Given the description of an element on the screen output the (x, y) to click on. 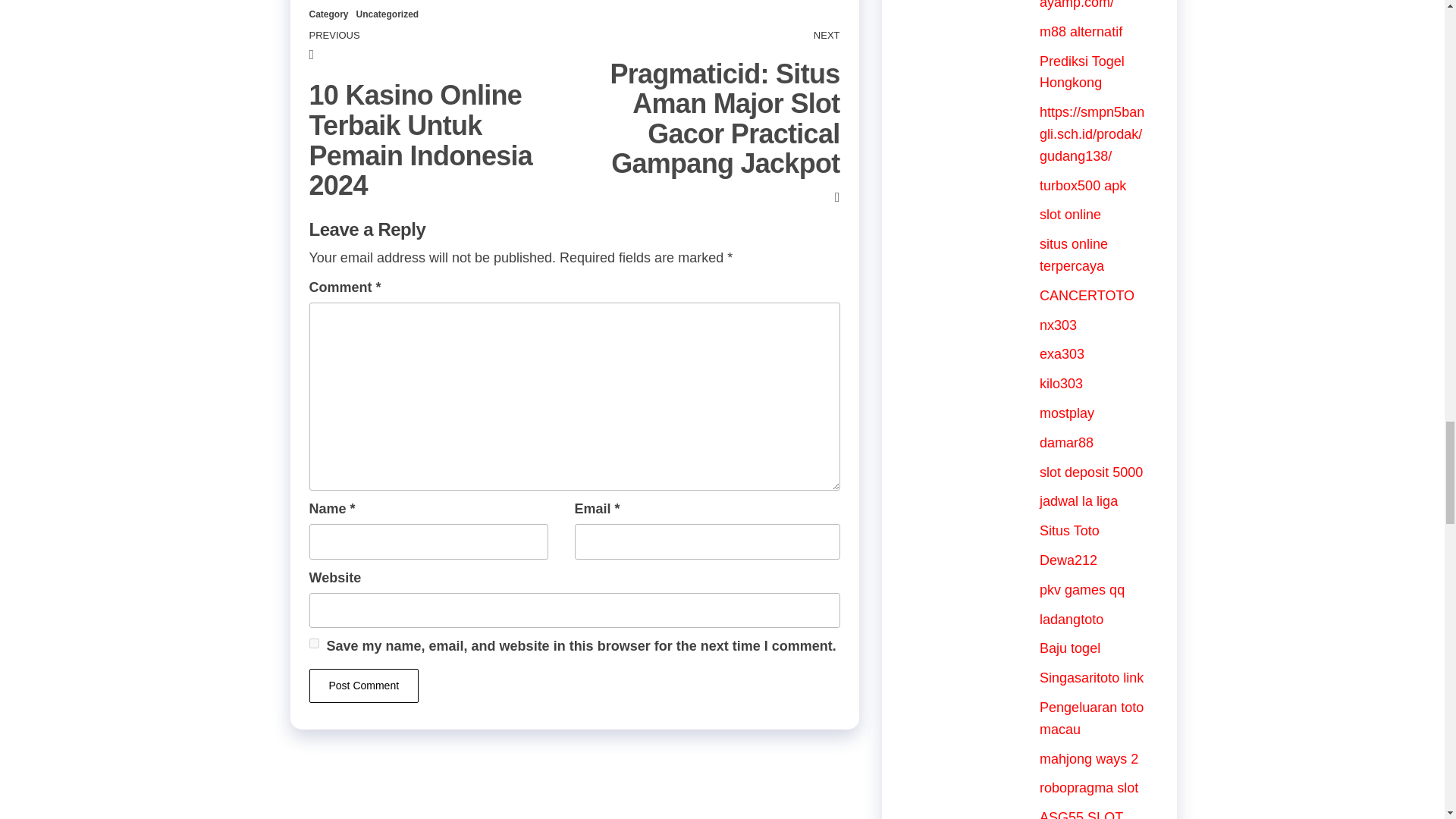
yes (313, 643)
Post Comment (363, 685)
